Given the description of an element on the screen output the (x, y) to click on. 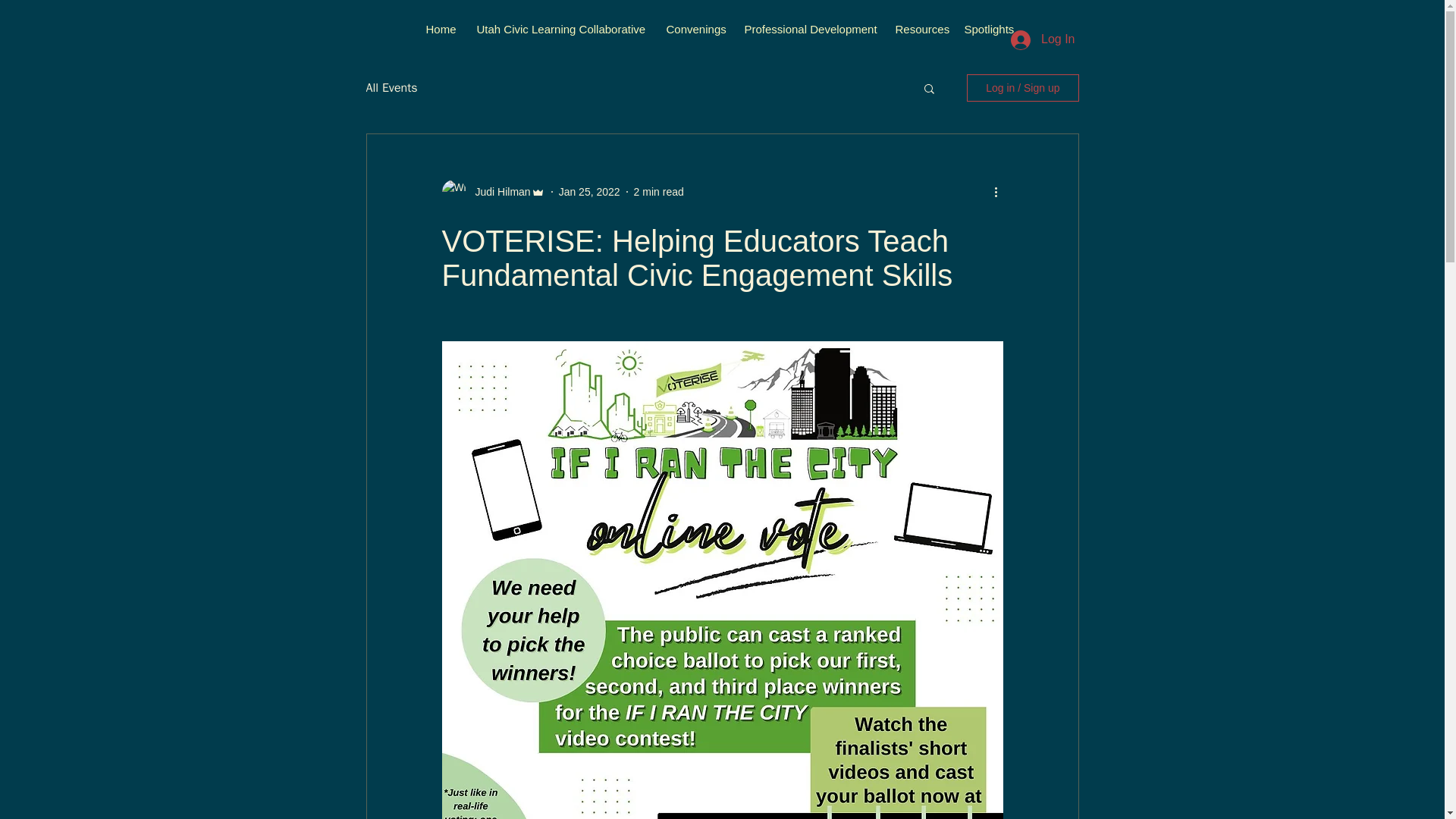
Spotlights (991, 29)
2 min read (658, 191)
All Events (390, 88)
Judi Hilman (497, 191)
Utah Civic Learning Collaborative (563, 29)
Jan 25, 2022 (589, 191)
Home (443, 29)
Professional Development (812, 29)
Log In (1042, 39)
Judi Hilman (492, 191)
